Given the description of an element on the screen output the (x, y) to click on. 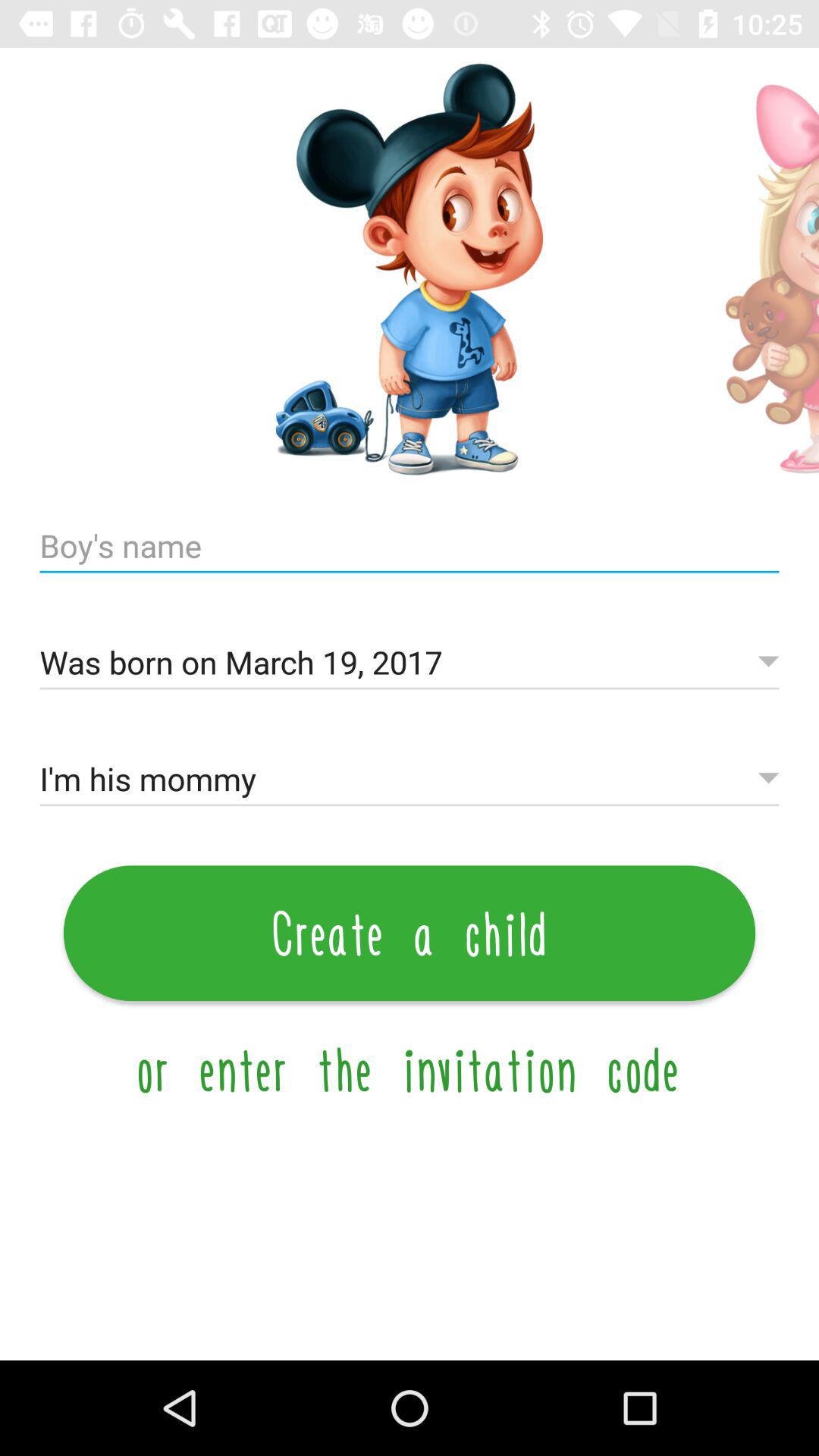
press the or enter the icon (409, 1068)
